Given the description of an element on the screen output the (x, y) to click on. 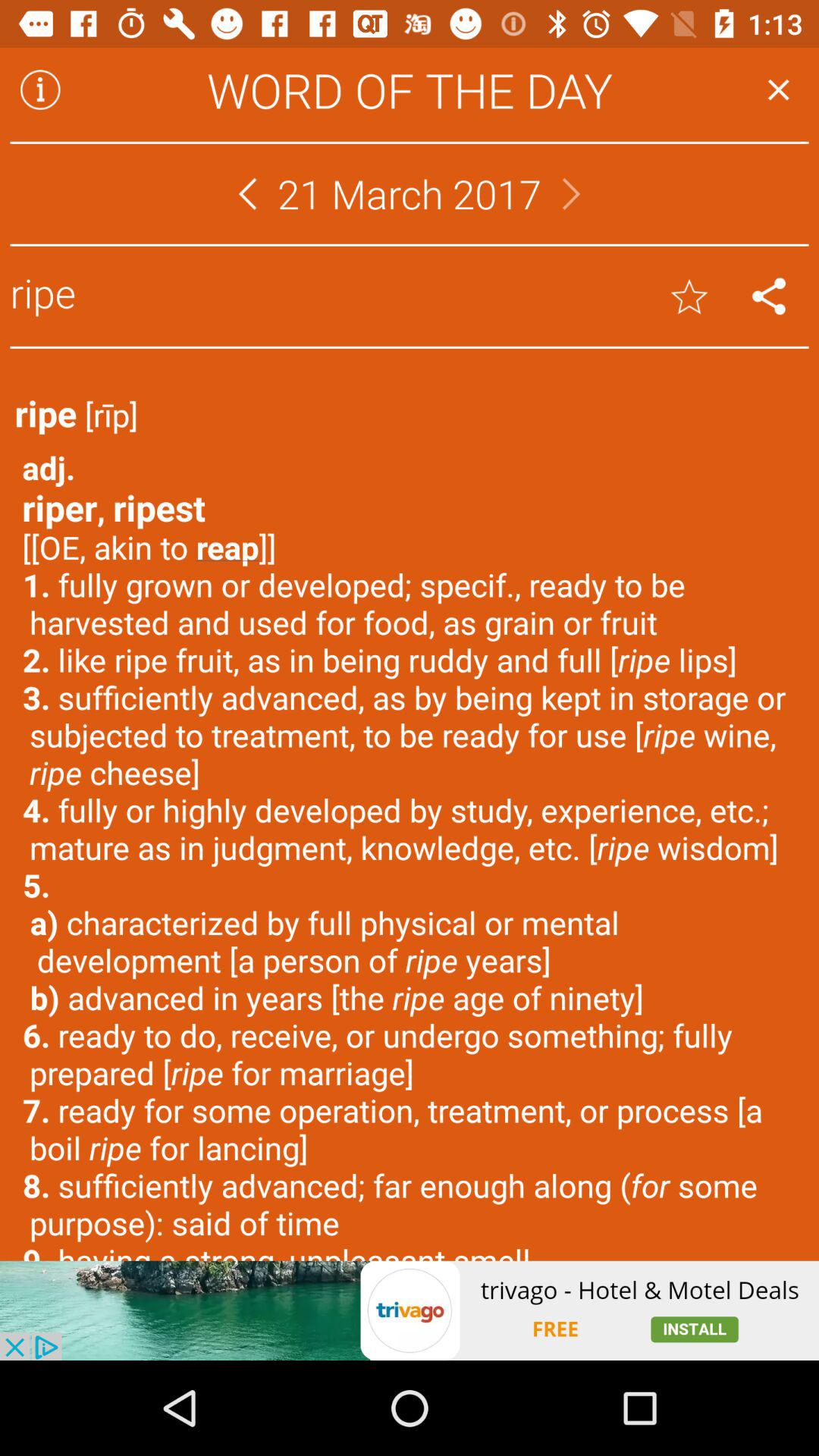
move forward (571, 193)
